Given the description of an element on the screen output the (x, y) to click on. 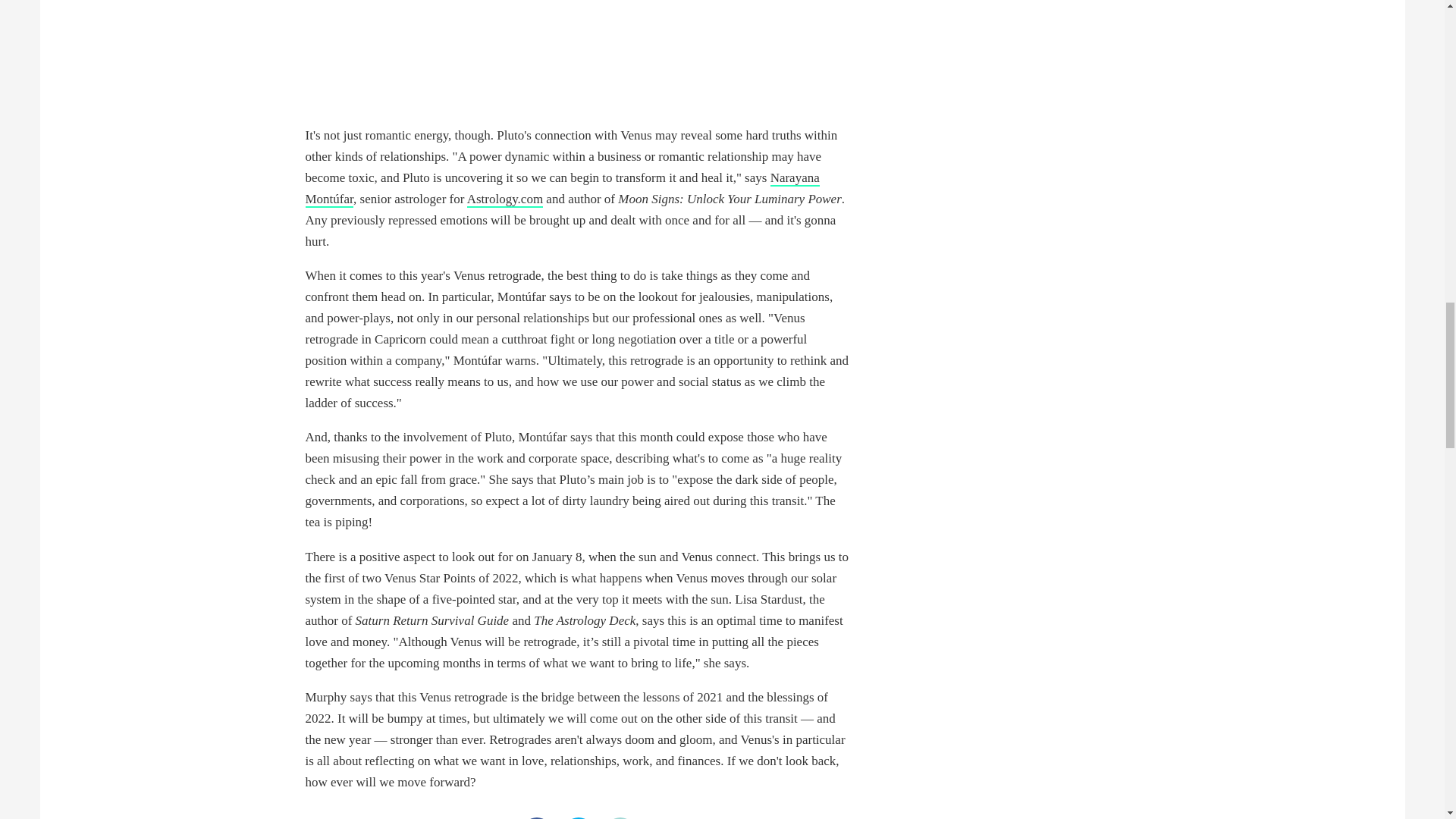
Share by Email (619, 818)
Share on Twitter (577, 818)
Astrology.com (505, 199)
